Given the description of an element on the screen output the (x, y) to click on. 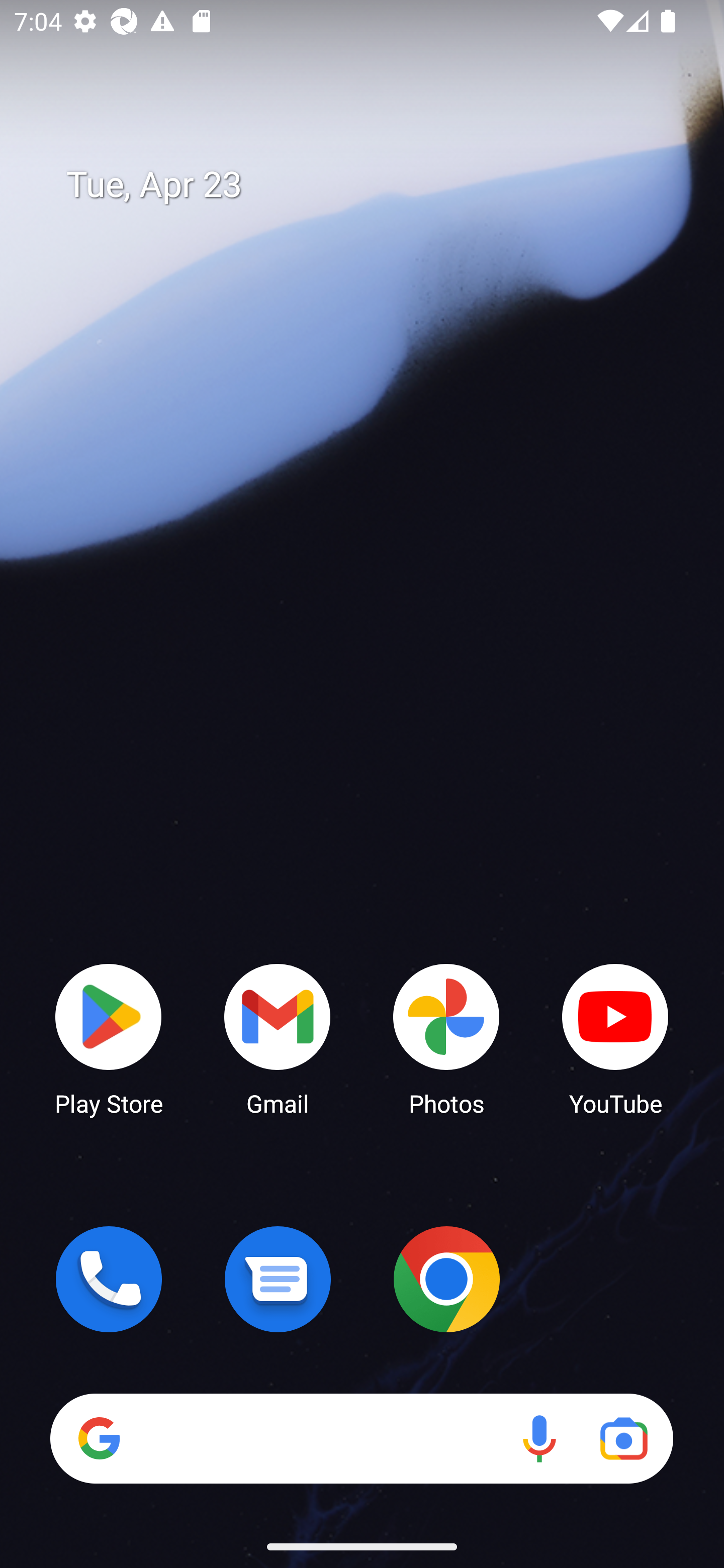
Tue, Apr 23 (375, 184)
Play Store (108, 1038)
Gmail (277, 1038)
Photos (445, 1038)
YouTube (615, 1038)
Phone (108, 1279)
Messages (277, 1279)
Chrome (446, 1279)
Search Voice search Google Lens (361, 1438)
Voice search (539, 1438)
Google Lens (623, 1438)
